Given the description of an element on the screen output the (x, y) to click on. 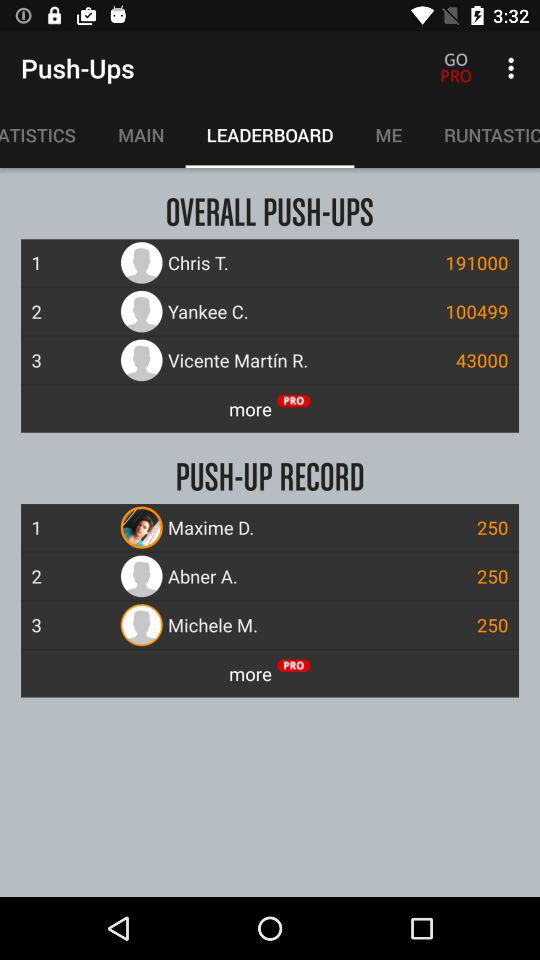
click the item next to main (48, 135)
